Given the description of an element on the screen output the (x, y) to click on. 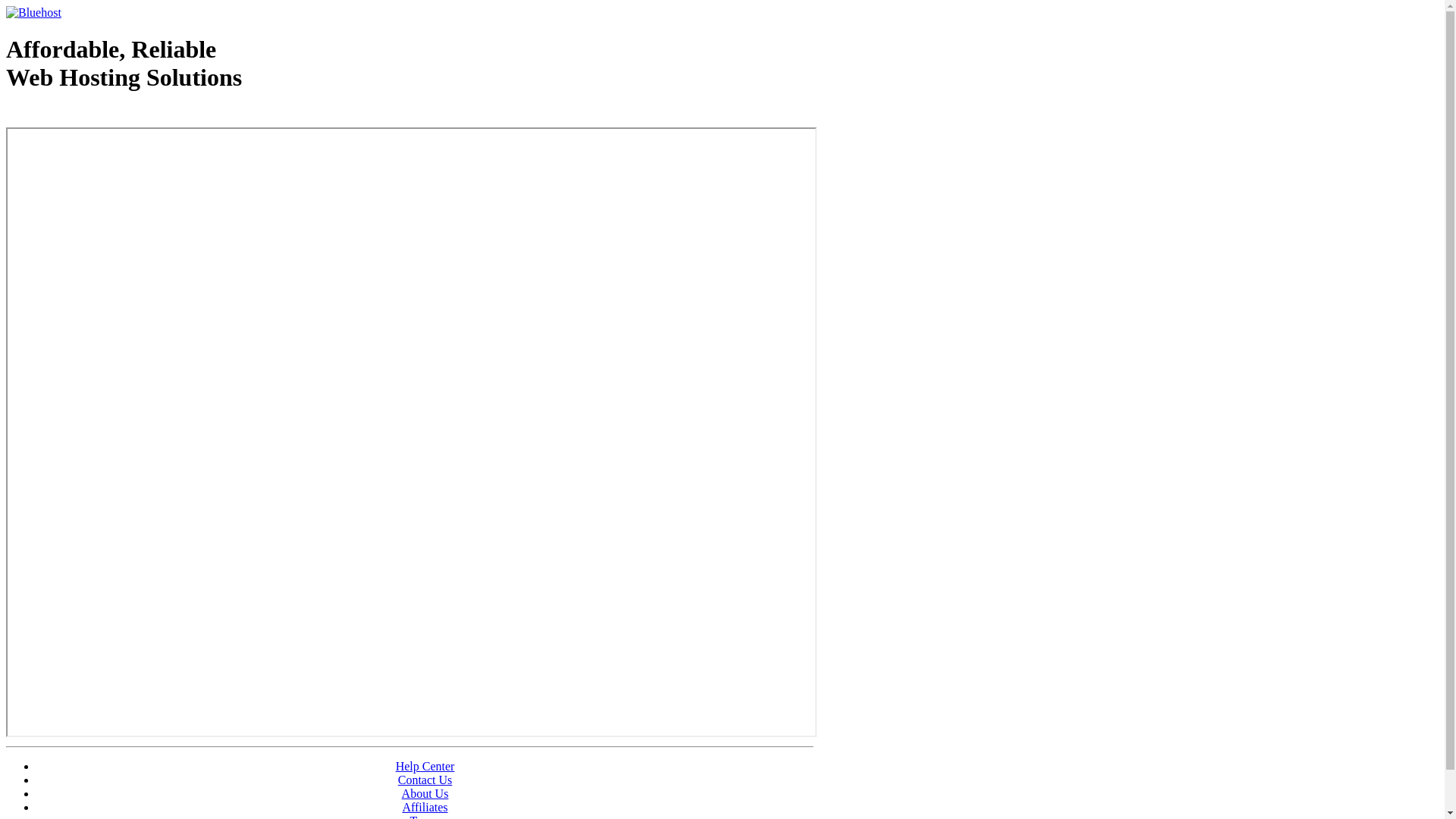
Contact Us Element type: text (425, 779)
Affiliates Element type: text (424, 806)
About Us Element type: text (424, 793)
Web Hosting - courtesy of www.bluehost.com Element type: text (94, 115)
Help Center Element type: text (425, 765)
